Given the description of an element on the screen output the (x, y) to click on. 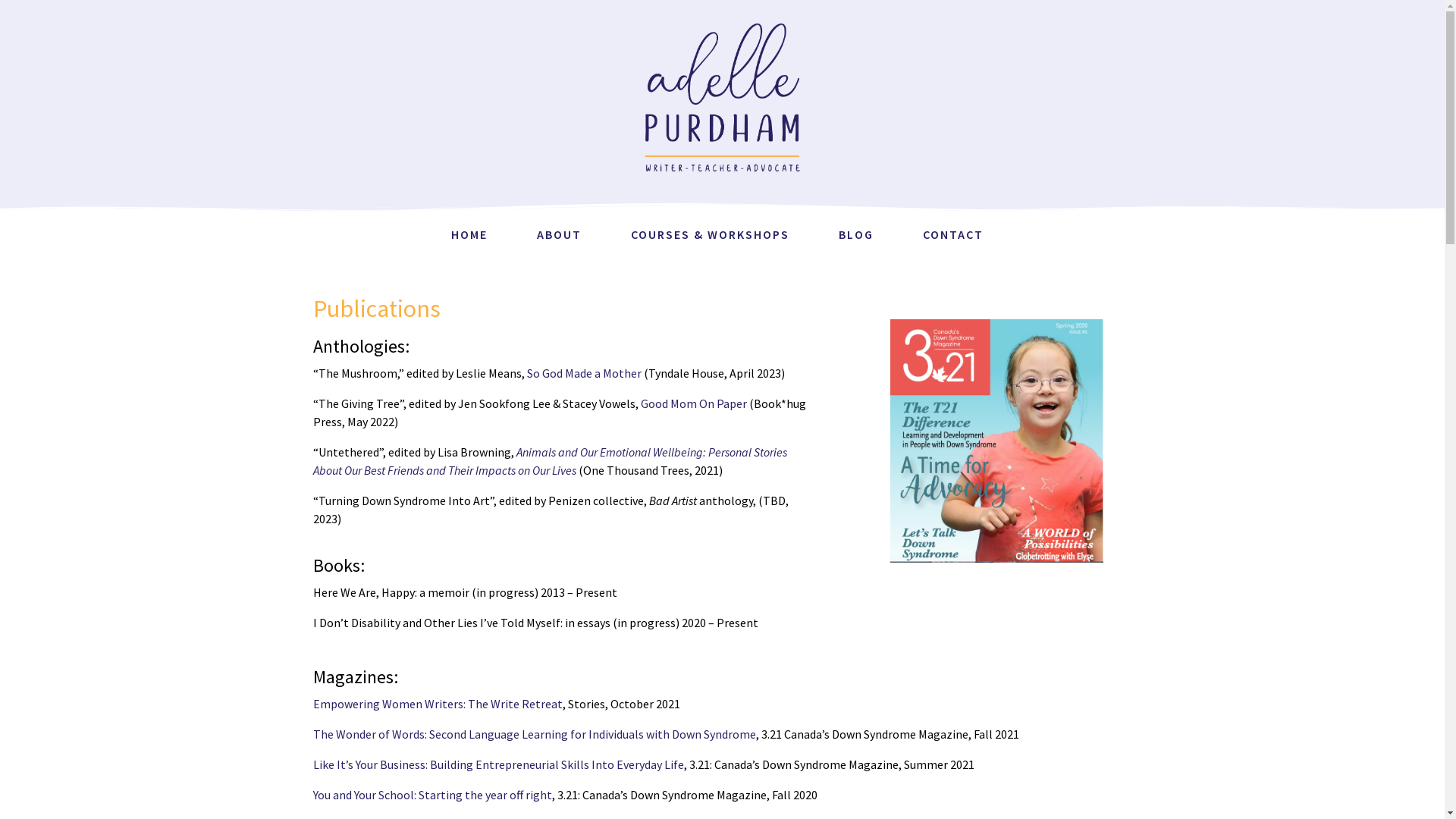
Empowering Women Writers: The Write Retreat Element type: text (436, 703)
So God Made a Mother Element type: text (583, 372)
BLOG Element type: text (855, 235)
CONTACT Element type: text (952, 235)
ABOUT Element type: text (558, 235)
HOME Element type: text (469, 235)
Good Mom On Paper Element type: text (693, 403)
COURSES & WORKSHOPS Element type: text (709, 235)
You and Your School: Starting the year off right Element type: text (431, 794)
